Given the description of an element on the screen output the (x, y) to click on. 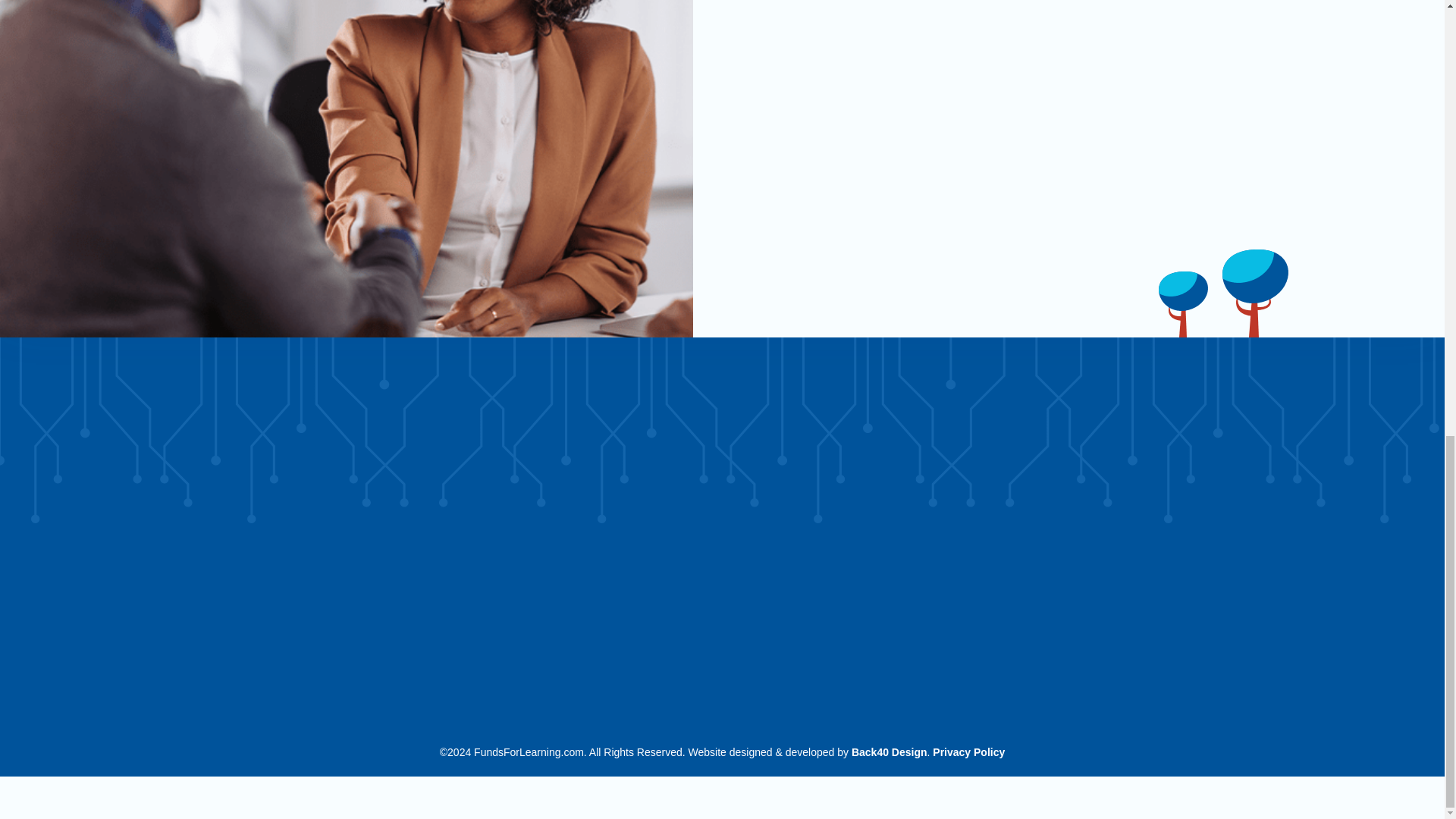
Privacy Policy (968, 752)
Back40 Design (889, 752)
